Given the description of an element on the screen output the (x, y) to click on. 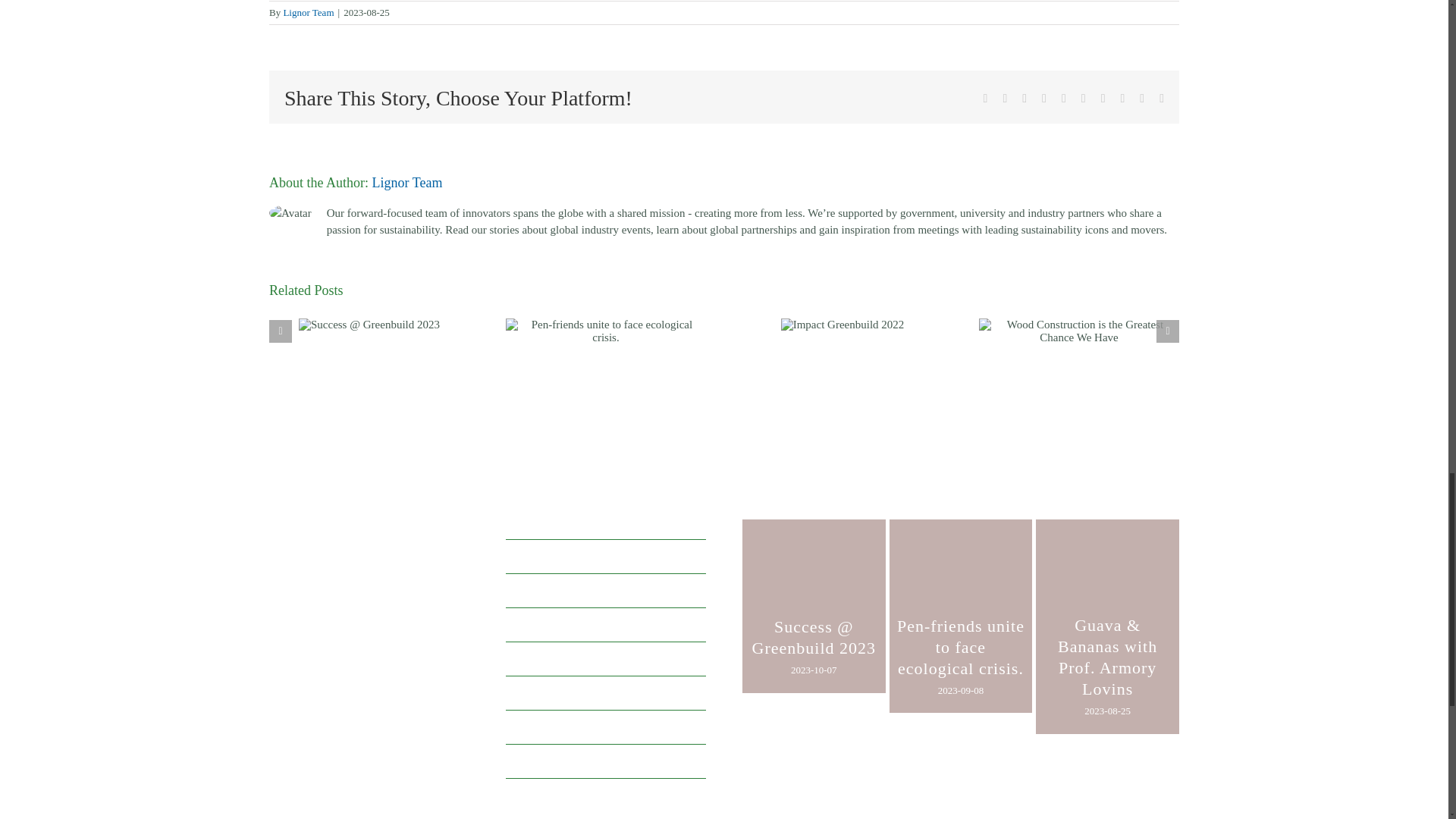
Posts by Lignor Team (406, 182)
Lignor Team (406, 182)
Lignor Team (307, 12)
Posts by Lignor Team (307, 12)
